Given the description of an element on the screen output the (x, y) to click on. 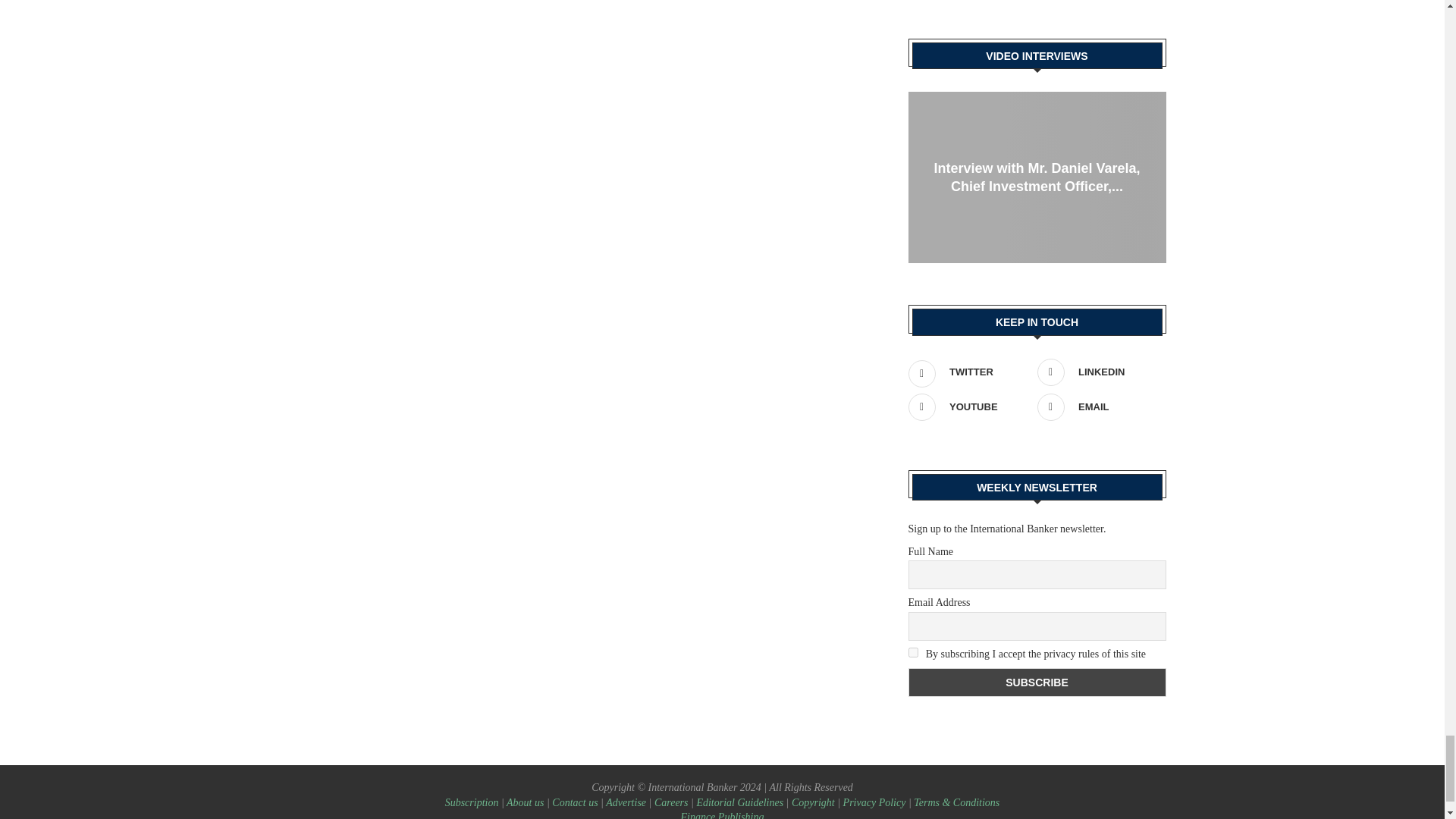
Subscribe (1037, 682)
on (913, 652)
